Given the description of an element on the screen output the (x, y) to click on. 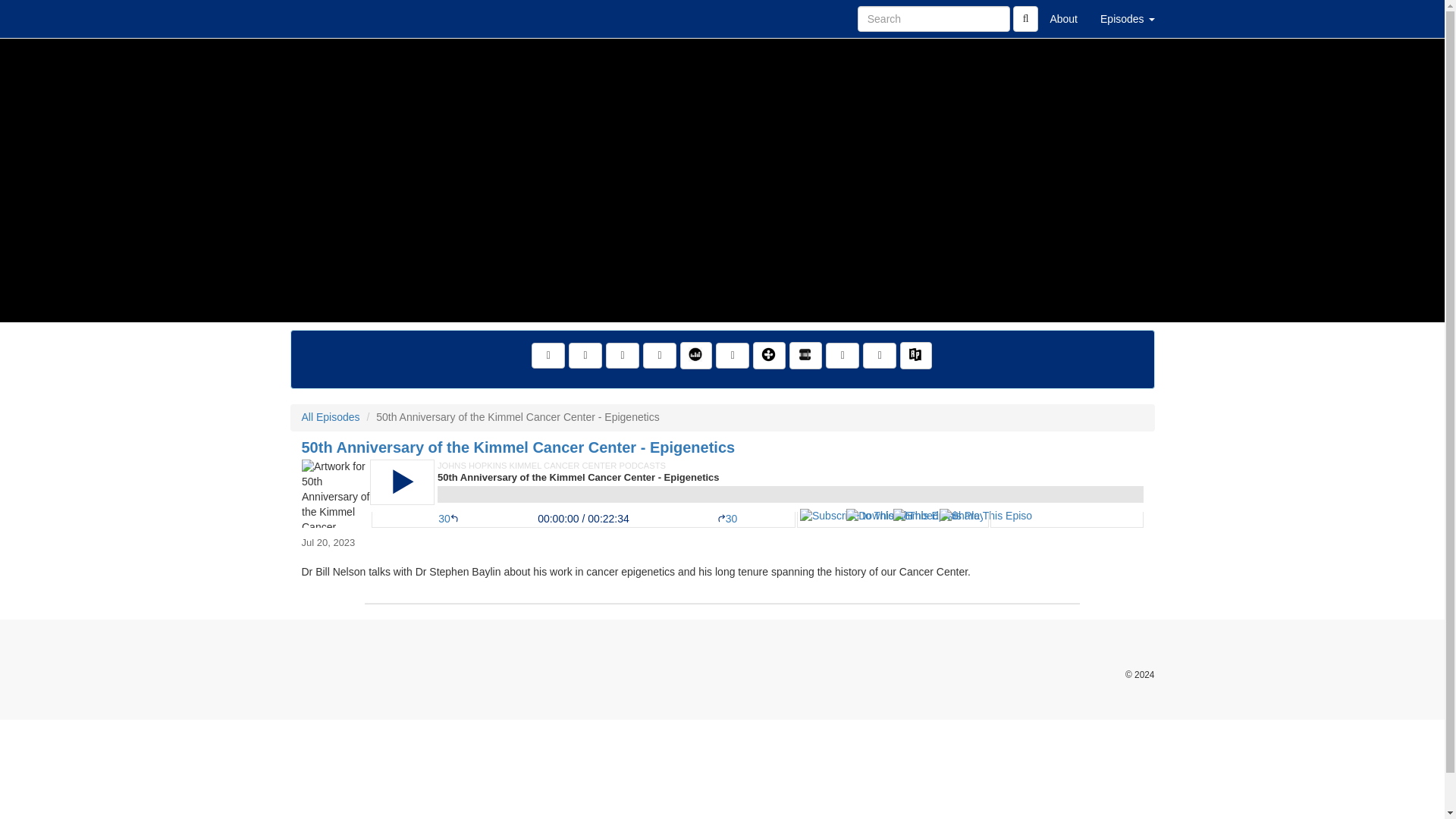
About (1063, 18)
Subscribe to RSS Feed (660, 355)
Home Page (320, 18)
Listen on TuneIn (769, 355)
View Our LinkedIn Page (622, 355)
Listen on Apple Podcasts (732, 355)
Listen on Spotify (842, 355)
Go To YouTube Channel (879, 355)
50th Anniversary of the Kimmel Cancer Center - Epigenetics (721, 493)
Visit Us on Facebook (547, 355)
